Given the description of an element on the screen output the (x, y) to click on. 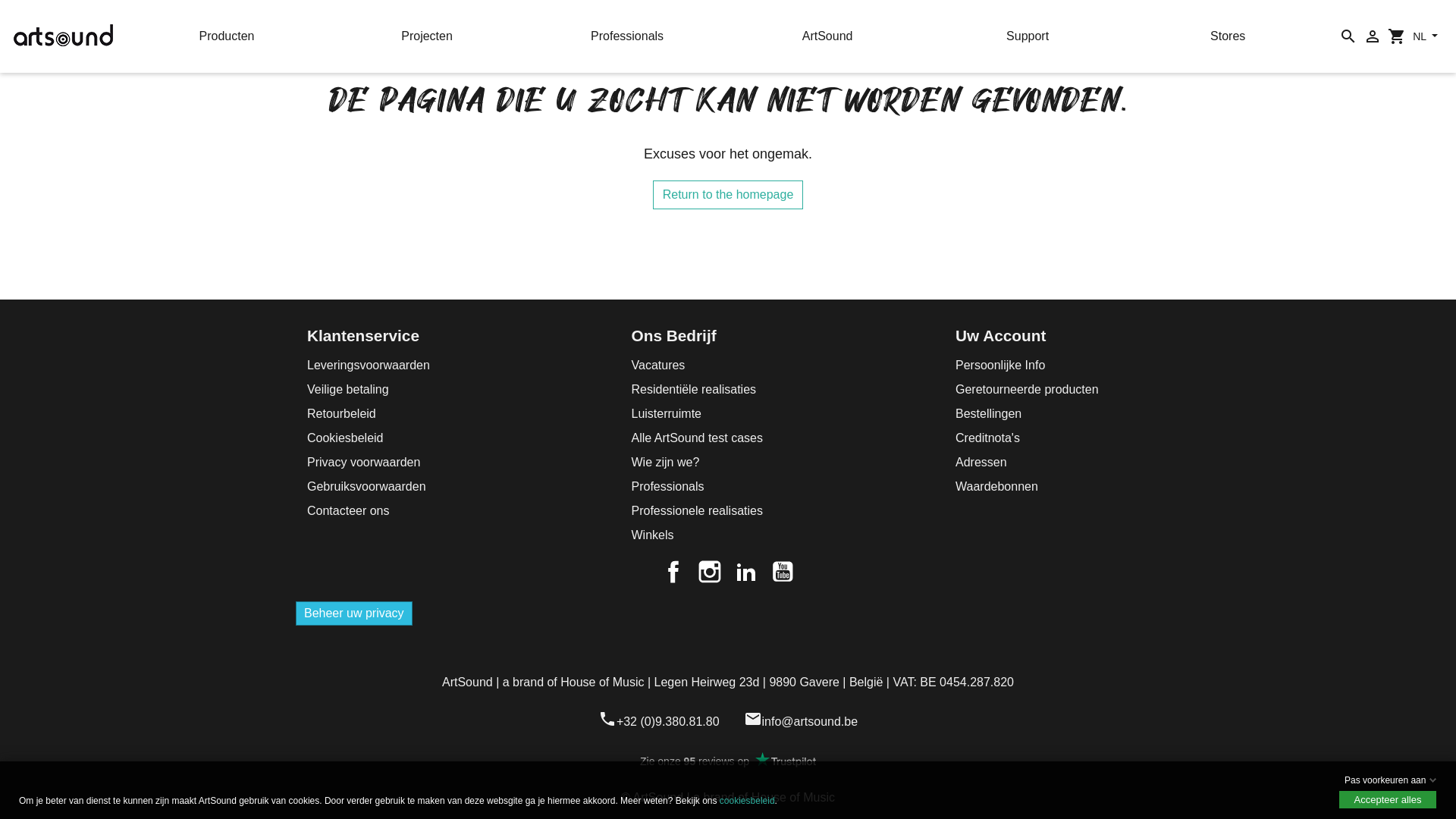
Bestellingen Element type: text (988, 413)
Luisterruimte Element type: text (665, 413)
ArtSound Element type: text (827, 36)
cookiesbeleid Element type: text (747, 800)
phone+32 (0)9.380.81.80 Element type: text (658, 721)
Persoonlijke Info Element type: text (999, 364)
Adressen Element type: text (981, 461)
Cookiesbeleid Element type: text (345, 437)
Veilige betaling Element type: text (348, 388)
Wie zijn we? Element type: text (664, 461)
Creditnota's Element type: text (987, 437)
Projecten Element type: text (426, 36)
Support Element type: text (1027, 36)
Gebruiksvoorwaarden Element type: text (366, 486)
Leveringsvoorwaarden Element type: text (368, 364)
search Element type: text (1348, 35)
Retourbeleid Element type: text (341, 413)
Alle ArtSound test cases Element type: text (696, 437)
Contacteer ons Element type: text (348, 510)
Instagram Element type: text (709, 571)
Beheer uw privacy Element type: text (353, 613)
Accepteer alles Element type: text (1388, 799)
NL Element type: text (1424, 35)
Customer reviews powered by Trustpilot Element type: hover (727, 761)
Producten Element type: text (226, 36)
YouTube Element type: text (782, 571)
Professionals Element type: text (627, 36)
Geretourneerde producten Element type: text (1026, 388)
Winkels Element type: text (651, 534)
Professionele realisaties Element type: text (696, 510)
Stores Element type: text (1227, 36)
Facebook Element type: text (673, 571)
emailinfo@artsound.be Element type: text (800, 721)
LinkedIn Element type: text (746, 571)
Vacatures Element type: text (657, 364)
Waardebonnen Element type: text (996, 486)
Privacy voorwaarden Element type: text (363, 461)
Professionals Element type: text (666, 486)
Return to the homepage Element type: text (727, 194)
